Given the description of an element on the screen output the (x, y) to click on. 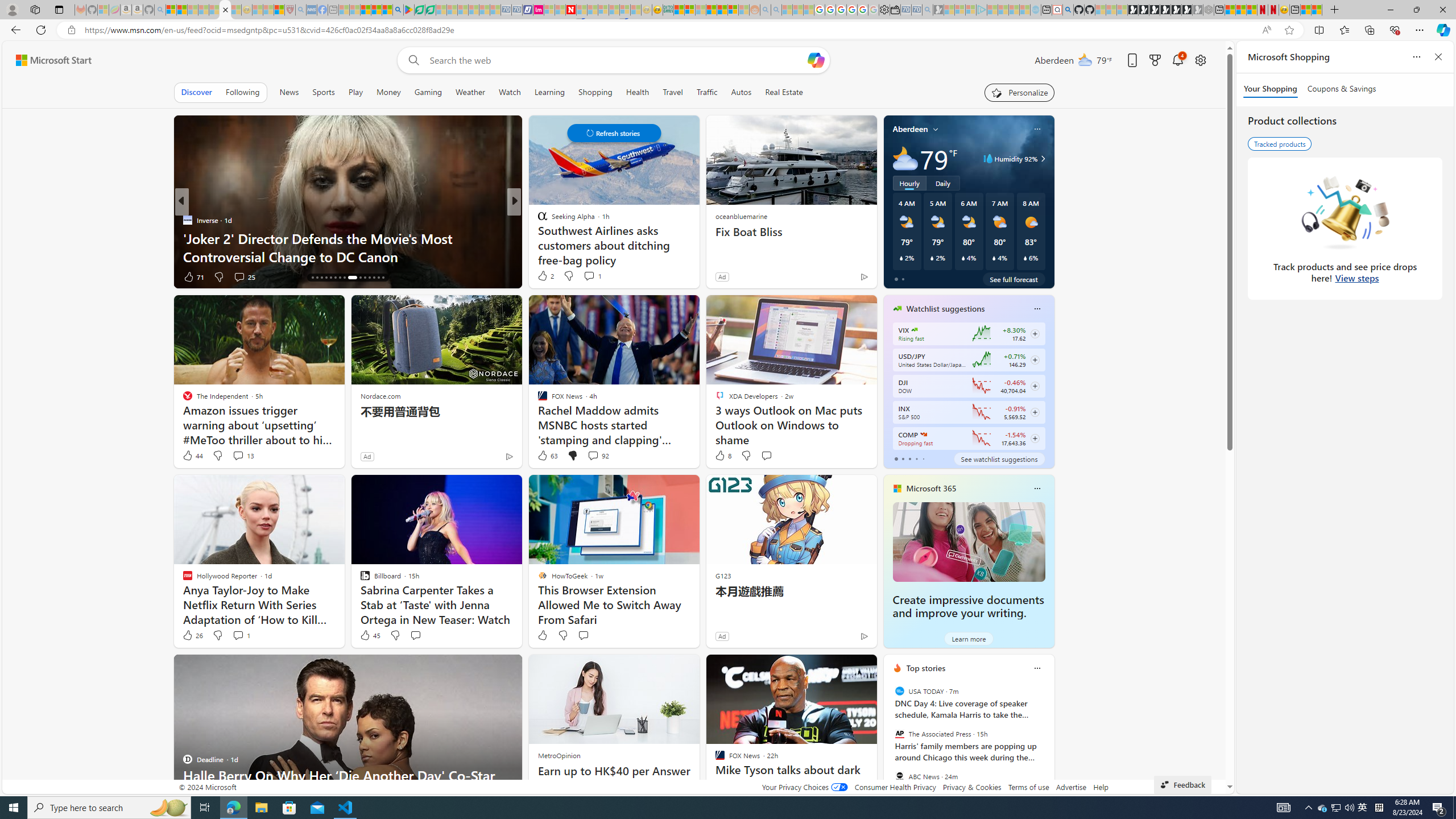
SB Nation (537, 219)
View comments 92 Comment (592, 455)
Learn more (967, 638)
Home | Sky Blue Bikes - Sky Blue Bikes - Sleeping (1035, 9)
View comments 1 Comment (237, 635)
Dislike (562, 634)
310 Like (545, 276)
oceanbluemarine (740, 215)
Expert Portfolios (711, 9)
Following (242, 92)
Privacy & Cookies (971, 786)
Play (355, 92)
